Given the description of an element on the screen output the (x, y) to click on. 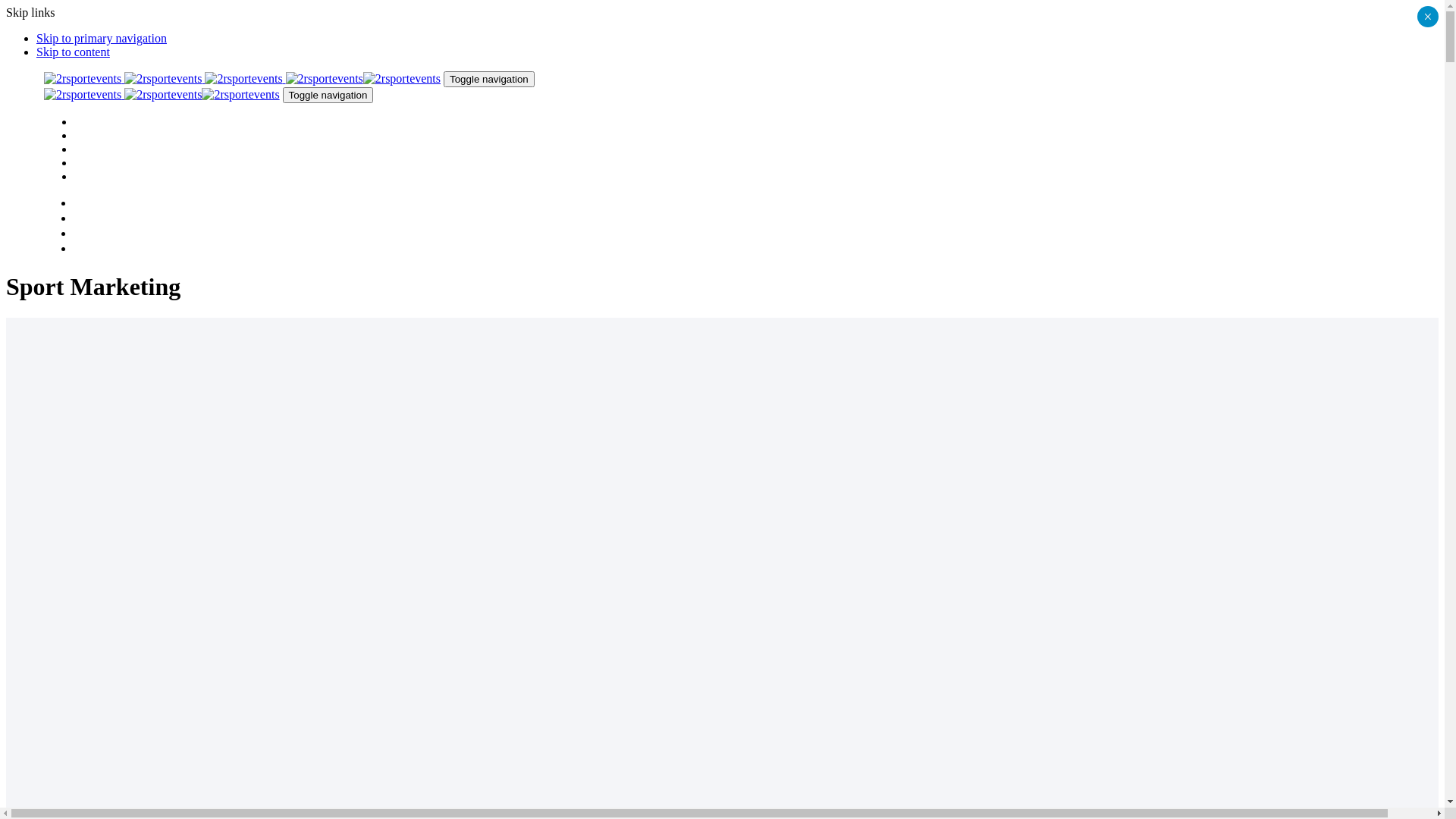
Toggle navigation Element type: text (488, 79)
COSA FACCIAMO Element type: text (126, 149)
Skip to content Element type: text (72, 51)
Toggle navigation Element type: text (327, 95)
CHI SIAMO Element type: text (108, 135)
HOME Element type: text (93, 122)
NEWS Element type: text (91, 163)
Skip to primary navigation Element type: text (101, 37)
CONTATTI Element type: text (106, 176)
venice-maraton Element type: hover (81, 465)
